Given the description of an element on the screen output the (x, y) to click on. 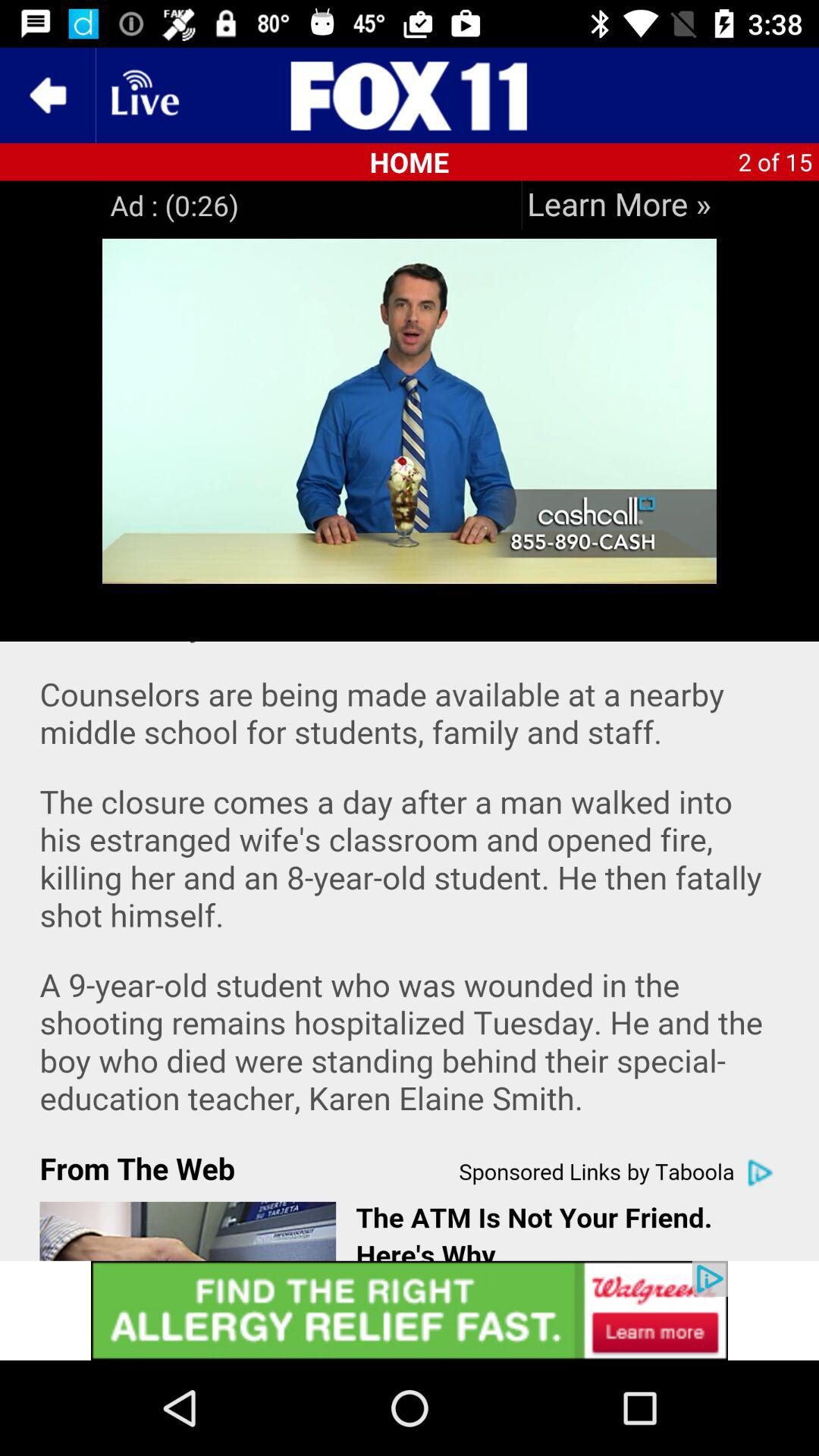
open live streaming (143, 95)
